Given the description of an element on the screen output the (x, y) to click on. 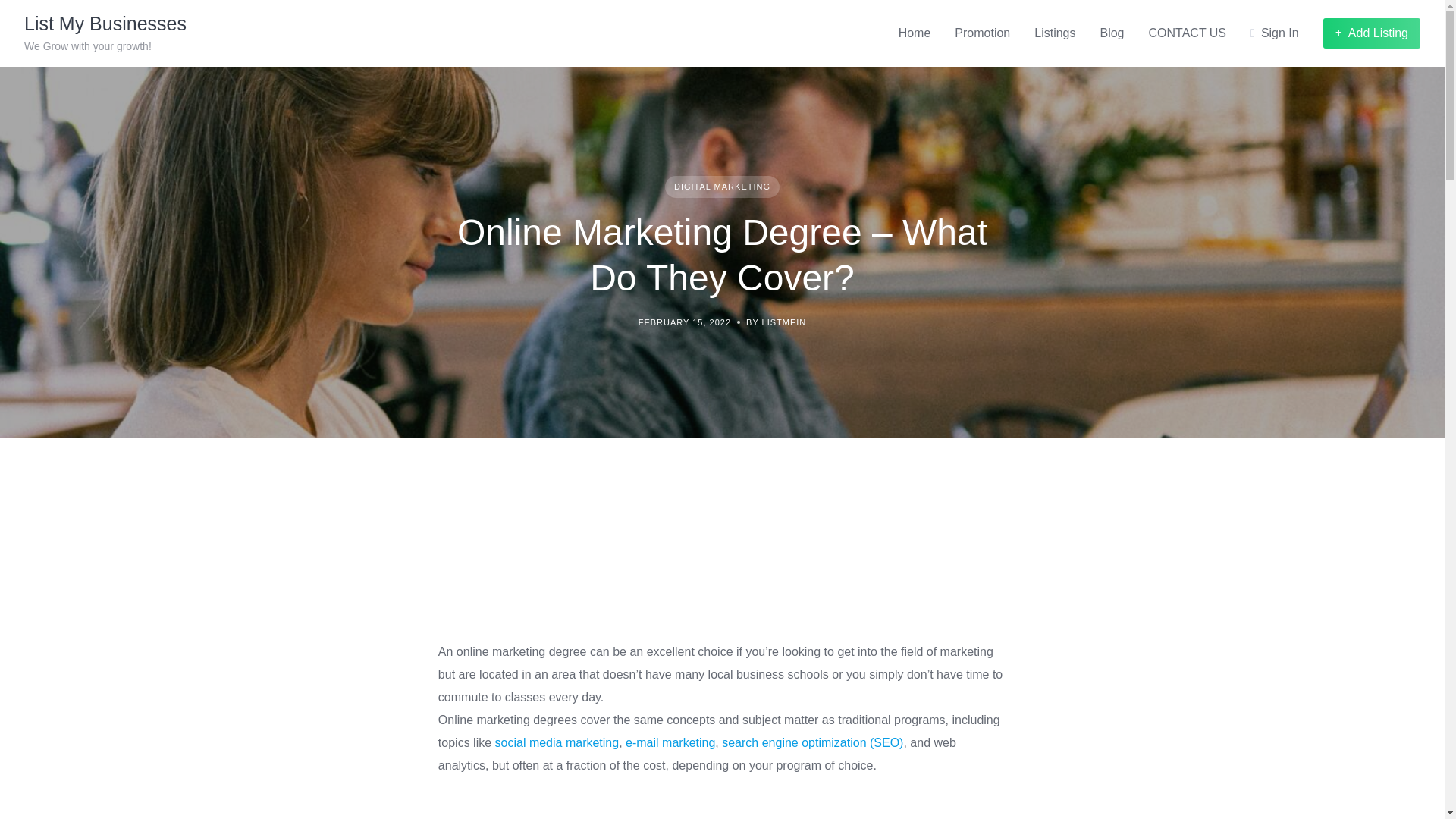
social (512, 742)
Promotion (982, 33)
media marketing (573, 742)
Advertisement (722, 563)
Add Listing (1372, 33)
DIGITAL MARKETING (721, 187)
Blog (1111, 33)
Sign In (1274, 33)
Listings (1054, 33)
